Given the description of an element on the screen output the (x, y) to click on. 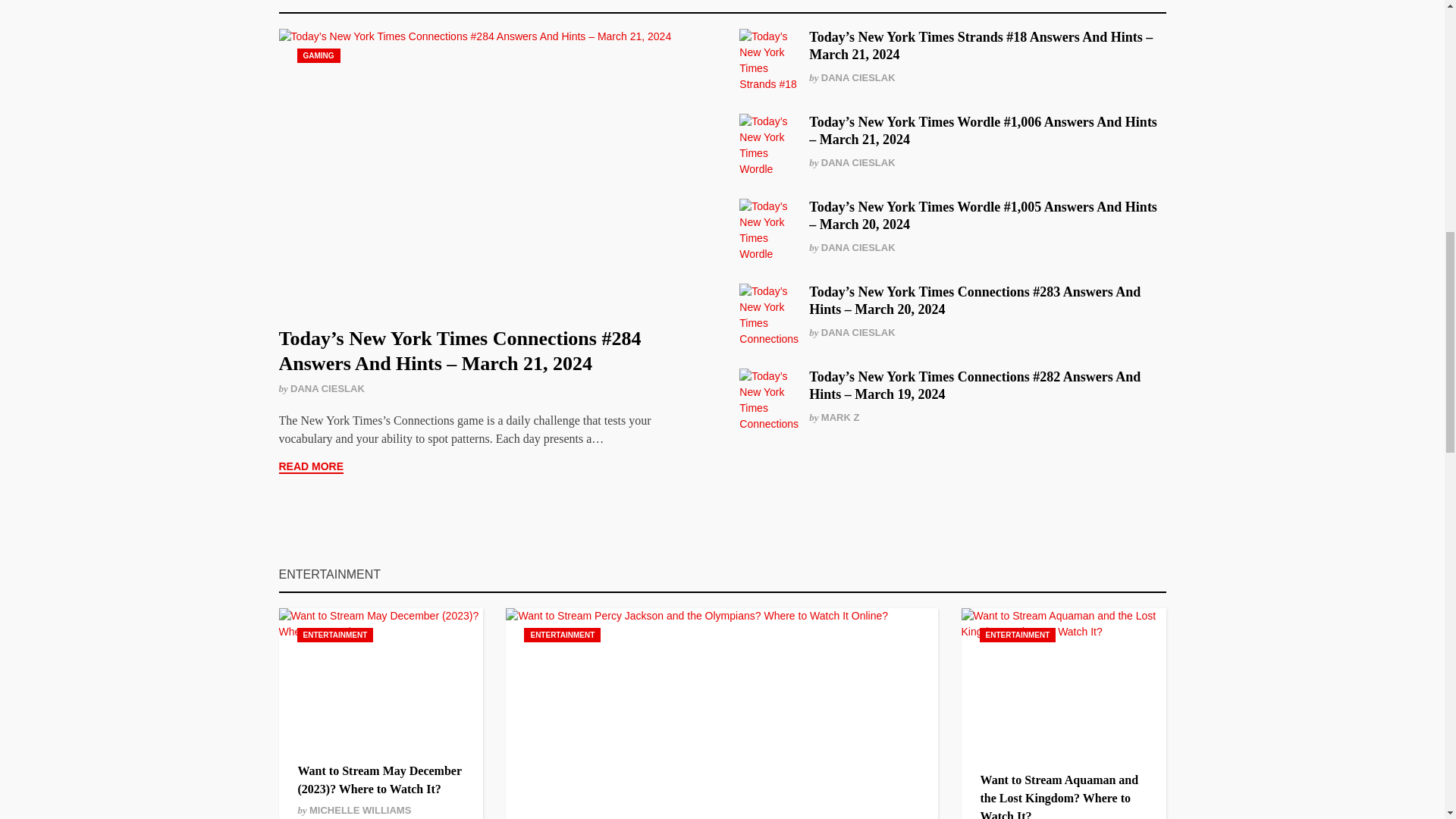
DANA CIESLAK (327, 388)
READ MORE (311, 467)
GAMING (318, 55)
